Given the description of an element on the screen output the (x, y) to click on. 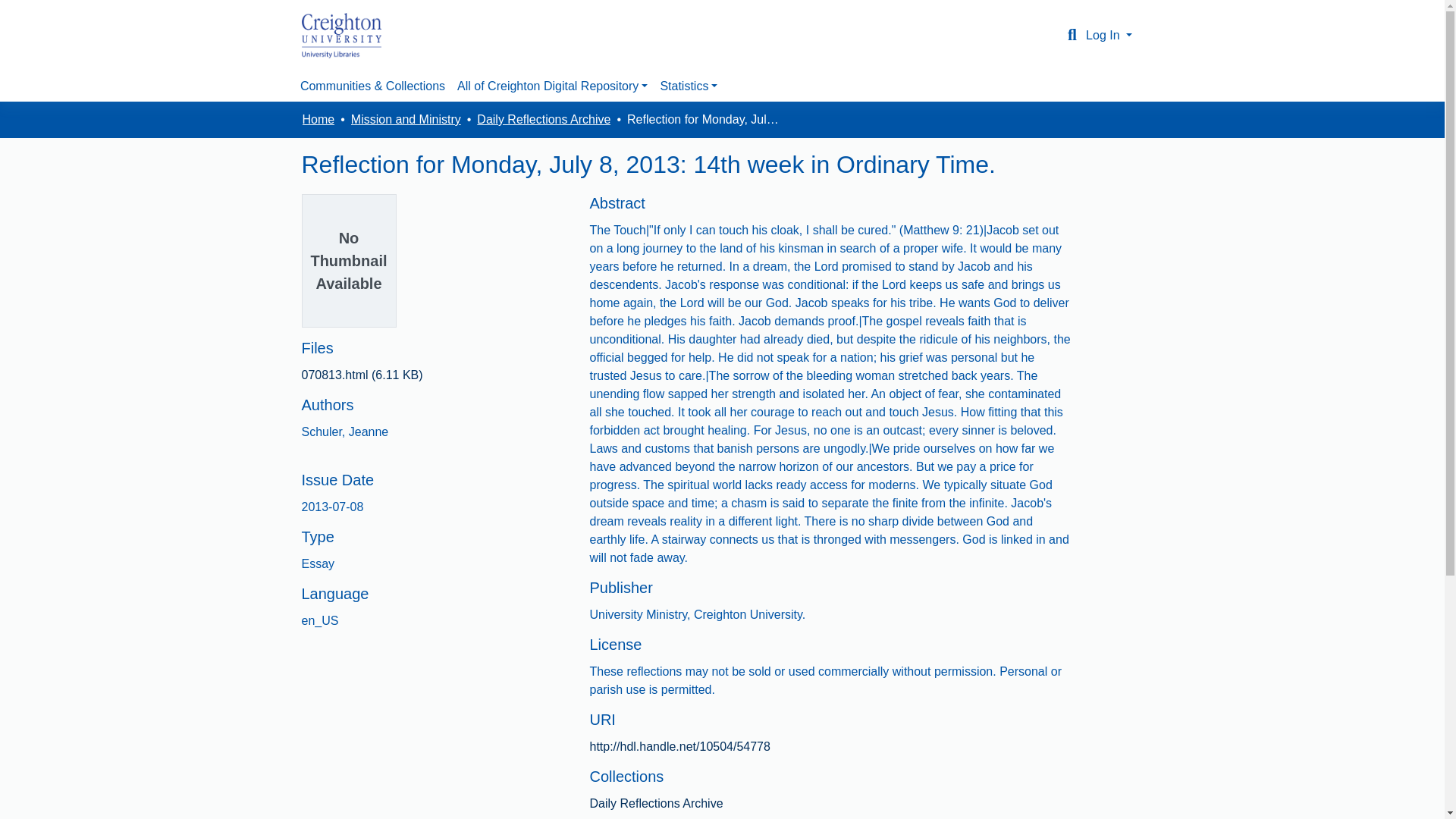
Home (317, 119)
All of Creighton Digital Repository (552, 86)
Search (1072, 35)
Statistics (688, 86)
Daily Reflections Archive (543, 119)
Daily Reflections Archive (655, 802)
Log In (1108, 34)
Mission and Ministry (405, 119)
